Given the description of an element on the screen output the (x, y) to click on. 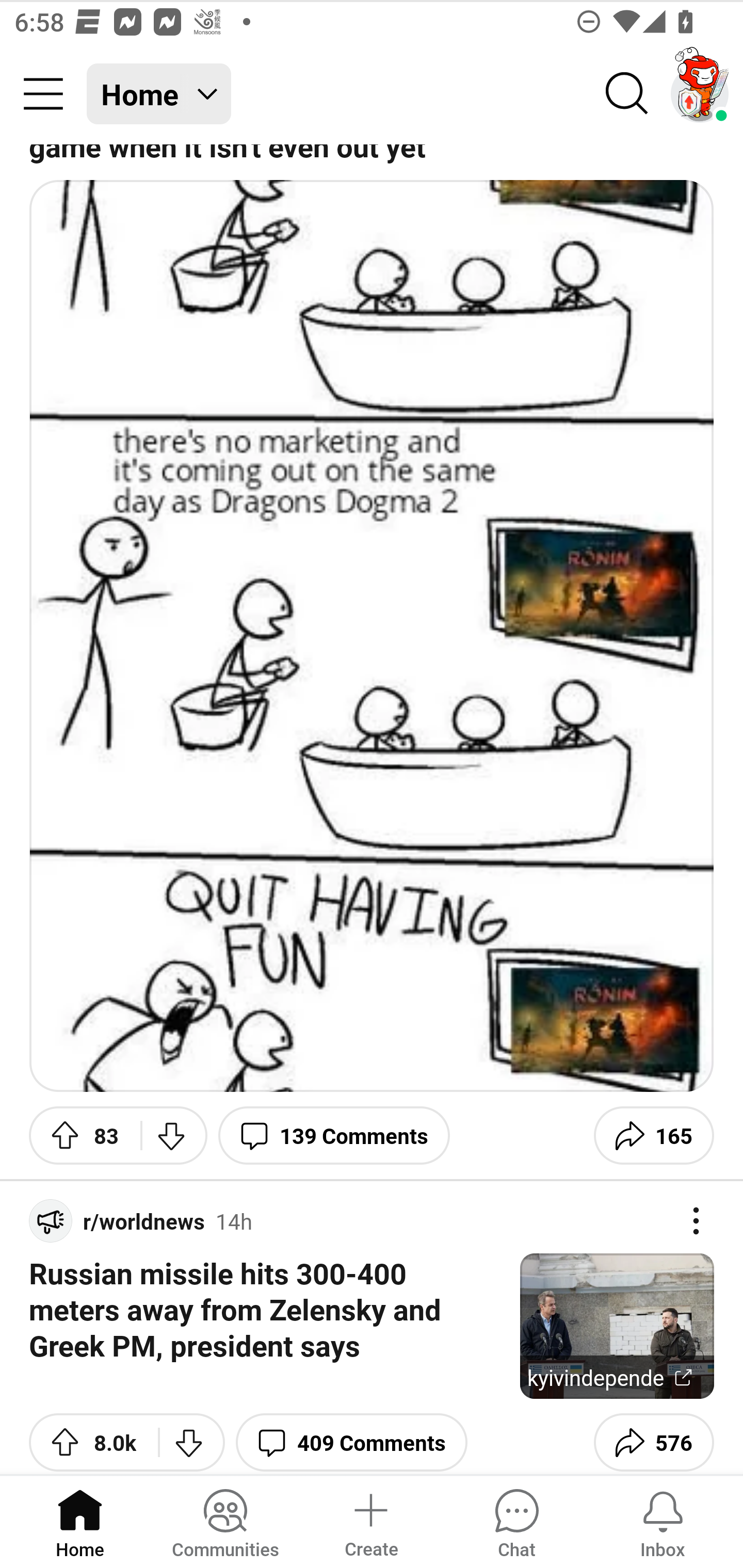
Community menu (43, 93)
Home Home feed (158, 93)
Search (626, 93)
TestAppium002 account (699, 93)
Home (80, 1520)
Communities (225, 1520)
Create a post Create (370, 1520)
Chat (516, 1520)
Inbox (662, 1520)
